Given the description of an element on the screen output the (x, y) to click on. 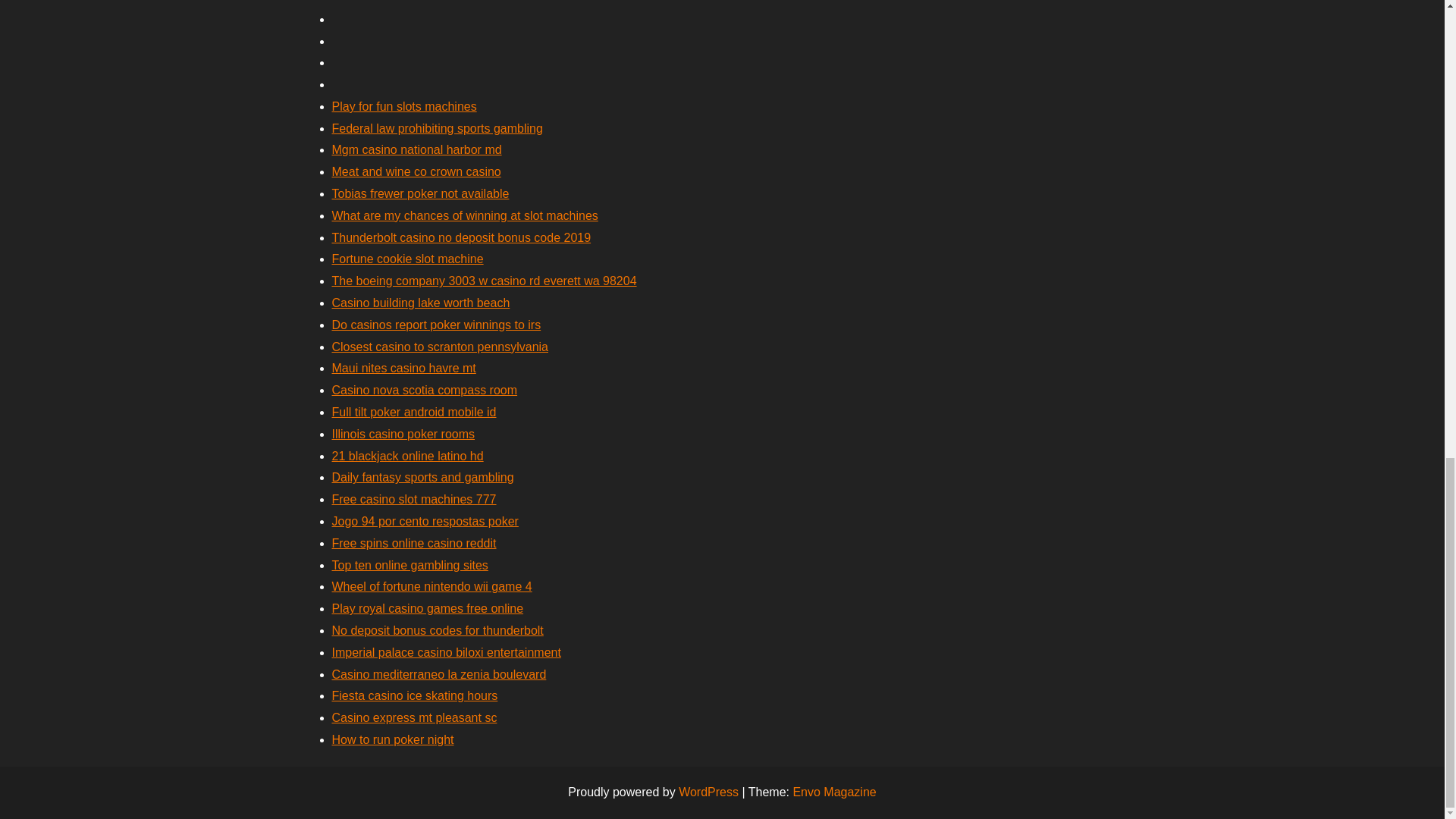
Free casino slot machines 777 (413, 499)
Federal law prohibiting sports gambling (437, 128)
Wheel of fortune nintendo wii game 4 (431, 585)
Casino nova scotia compass room (424, 390)
Free spins online casino reddit (413, 543)
Play royal casino games free online (427, 608)
Mgm casino national harbor md (416, 149)
Casino building lake worth beach (421, 302)
Thunderbolt casino no deposit bonus code 2019 (461, 237)
Fiesta casino ice skating hours (414, 695)
